Given the description of an element on the screen output the (x, y) to click on. 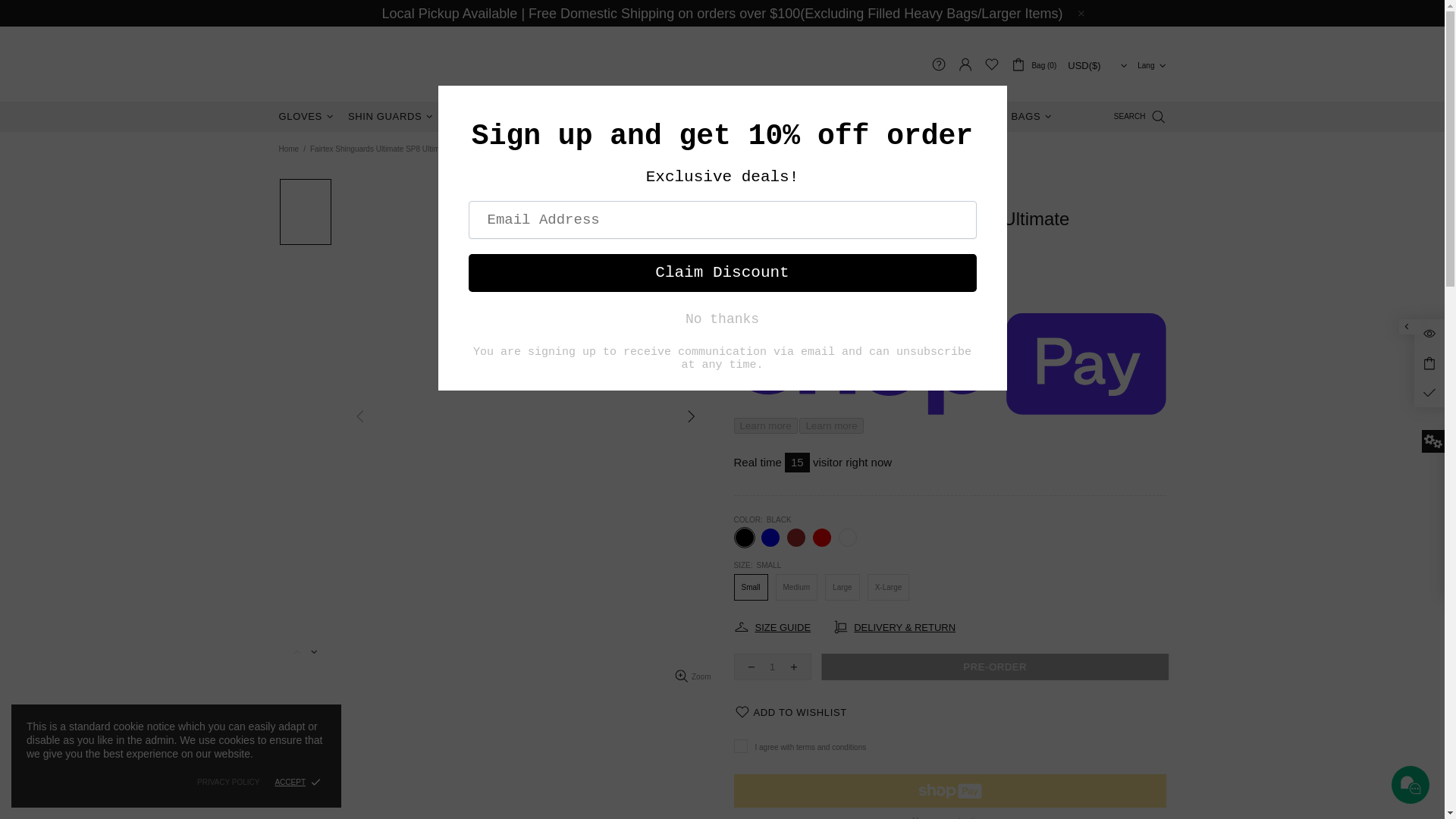
Subscribe (1119, 424)
MMA (650, 116)
OTM Fight Shop (373, 63)
PROTECTION (489, 116)
GRAPPLING (581, 116)
1 (771, 666)
APPAREL (712, 116)
GLOVES (307, 116)
Call via Hangouts (785, 541)
SHIN GUARDS (392, 116)
